Given the description of an element on the screen output the (x, y) to click on. 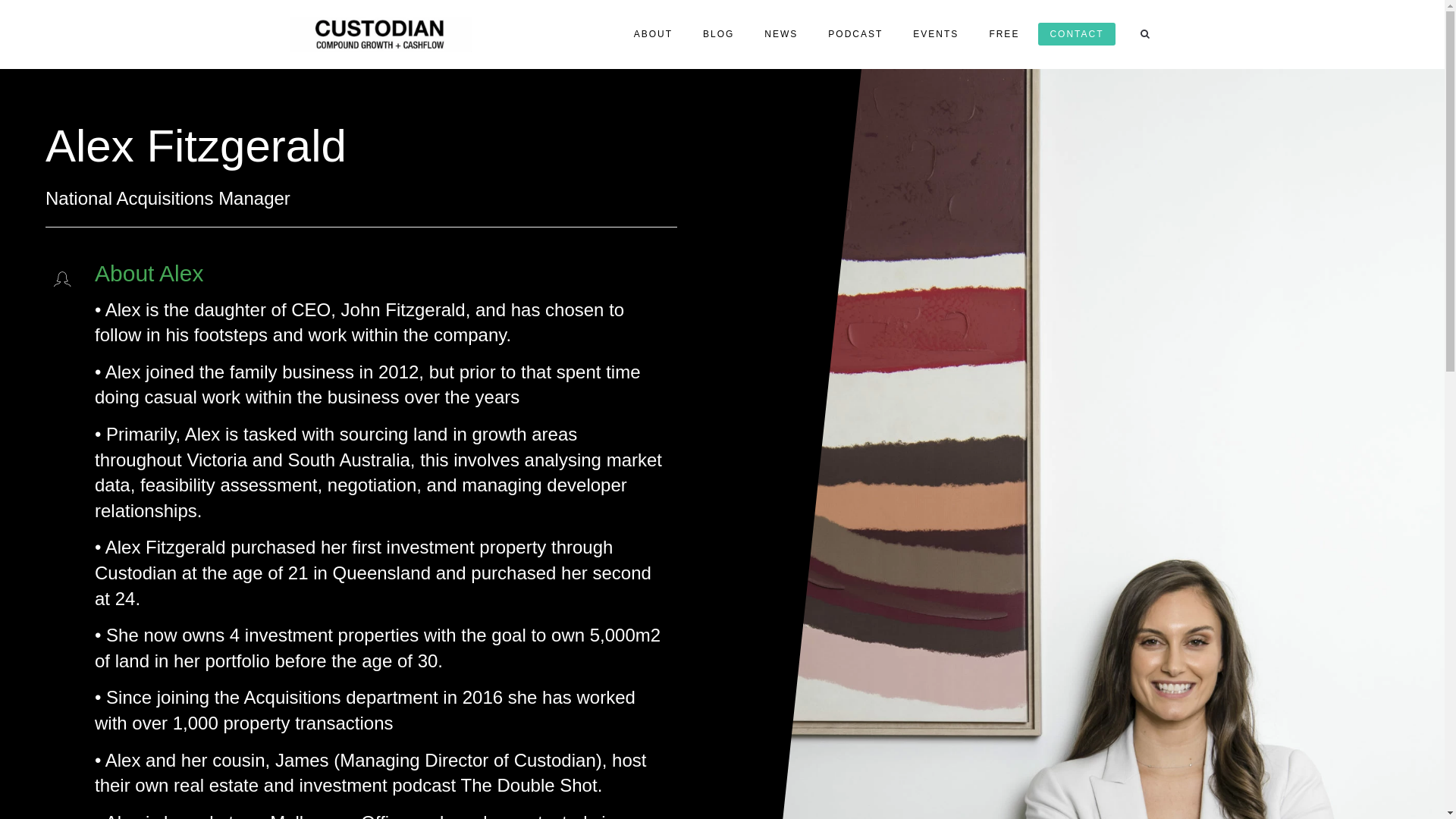
ABOUT Element type: text (653, 33)
CONTACT Element type: text (1076, 33)
BLOG Element type: text (718, 33)
NEWS Element type: text (781, 33)
PODCAST Element type: text (855, 33)
EVENTS Element type: text (935, 33)
FREE Element type: text (1003, 33)
